Given the description of an element on the screen output the (x, y) to click on. 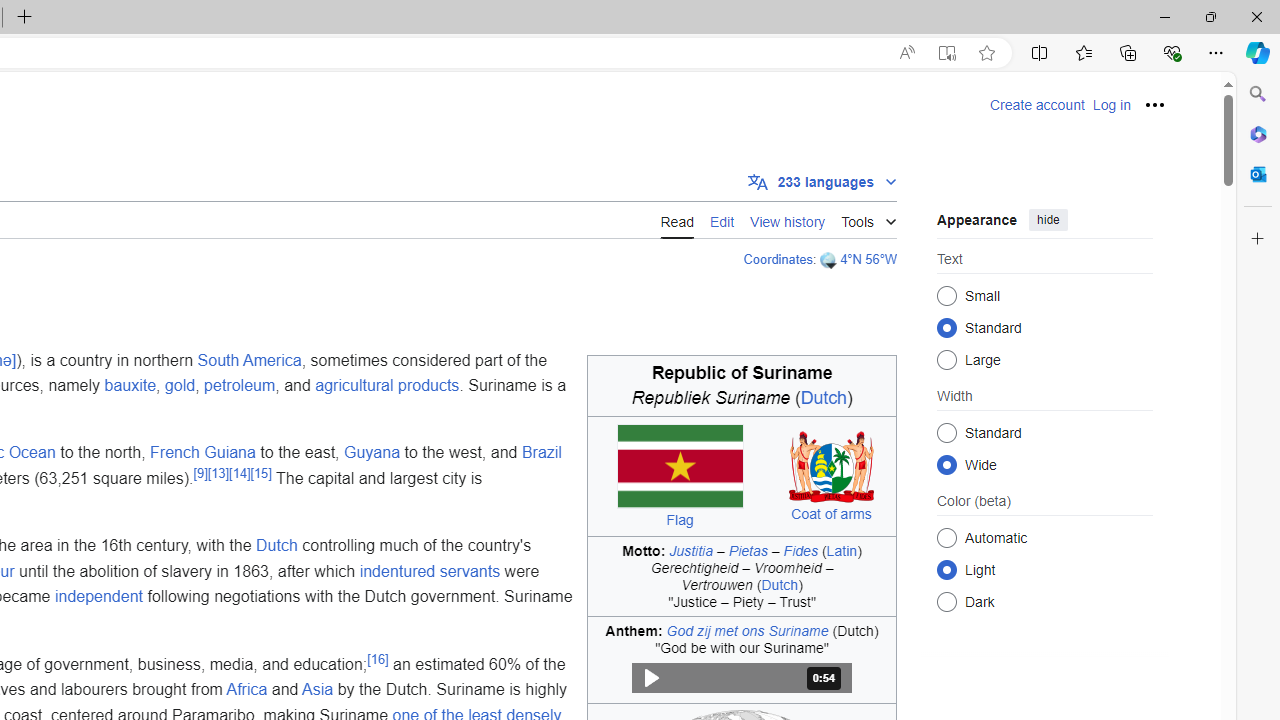
Read (676, 219)
Flag (679, 520)
Large (946, 359)
Edit (721, 219)
[16] (378, 658)
Asia (318, 690)
French Guiana (202, 453)
Edit (721, 219)
Flag of Suriname (679, 466)
Pietas (748, 550)
View history (787, 219)
[14] (239, 472)
